Given the description of an element on the screen output the (x, y) to click on. 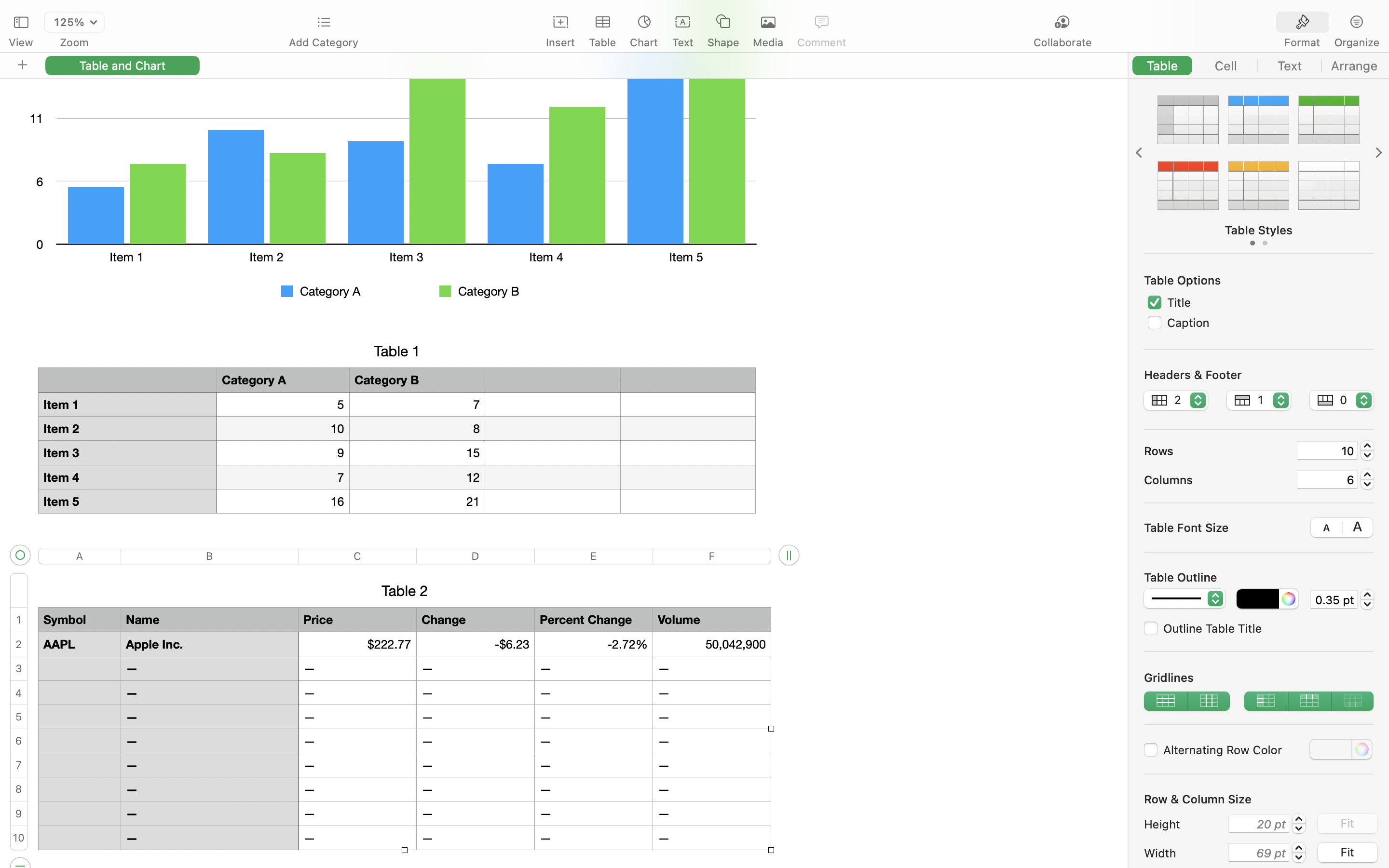
Columns Element type: AXStaticText (1216, 479)
20 pt Element type: AXTextField (1258, 823)
Organize Element type: AXStaticText (1356, 42)
Table and Chart Element type: AXStaticText (122, 64)
10 Element type: AXTextField (1327, 450)
